Given the description of an element on the screen output the (x, y) to click on. 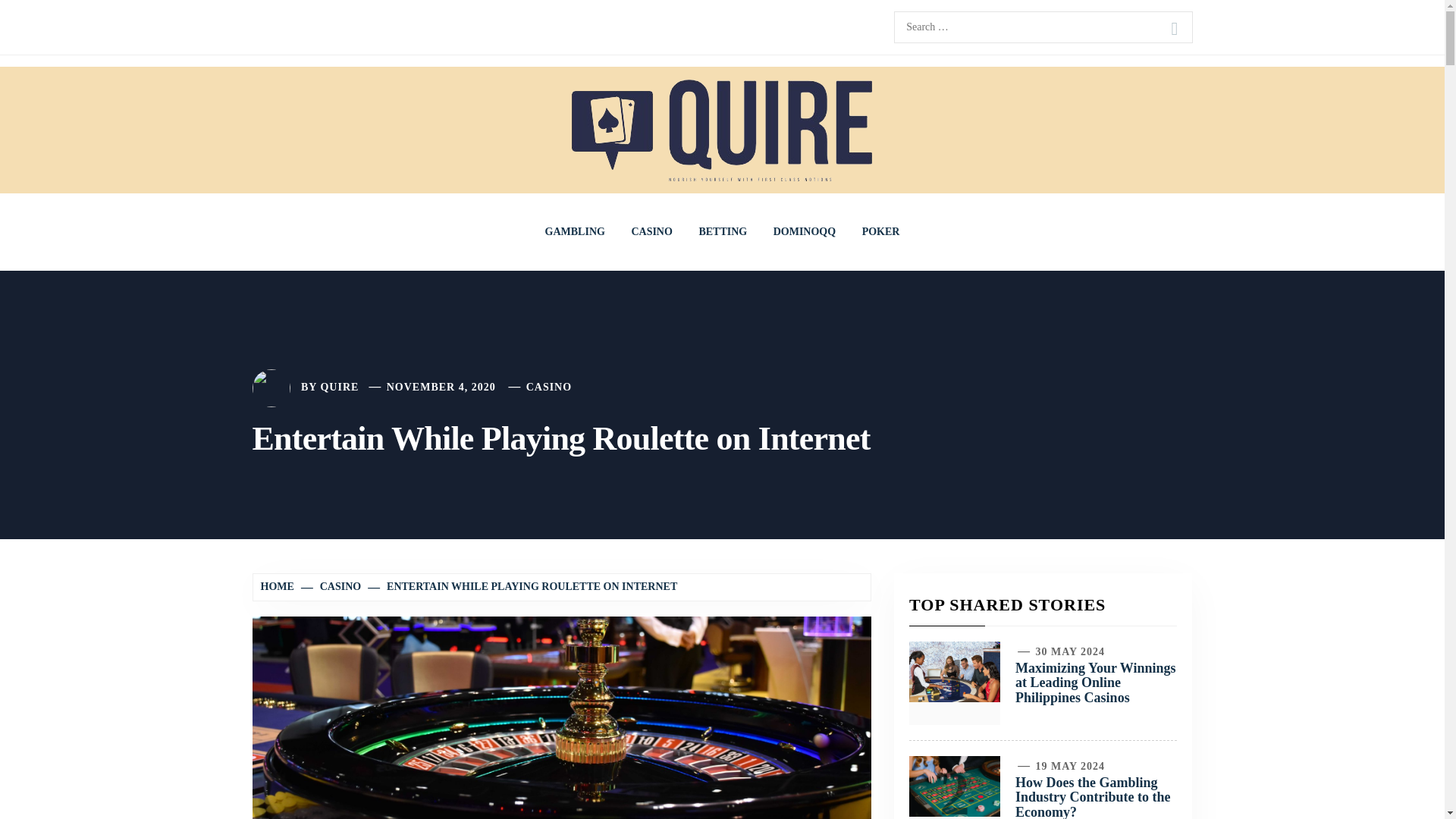
CASINO (548, 387)
GAMBLING (574, 231)
POKER (880, 231)
CASINO (651, 231)
HOME (279, 586)
NOVEMBER 4, 2020 (441, 387)
Search (1174, 28)
BETTING (722, 231)
Search (1174, 28)
Search (1174, 28)
